Given the description of an element on the screen output the (x, y) to click on. 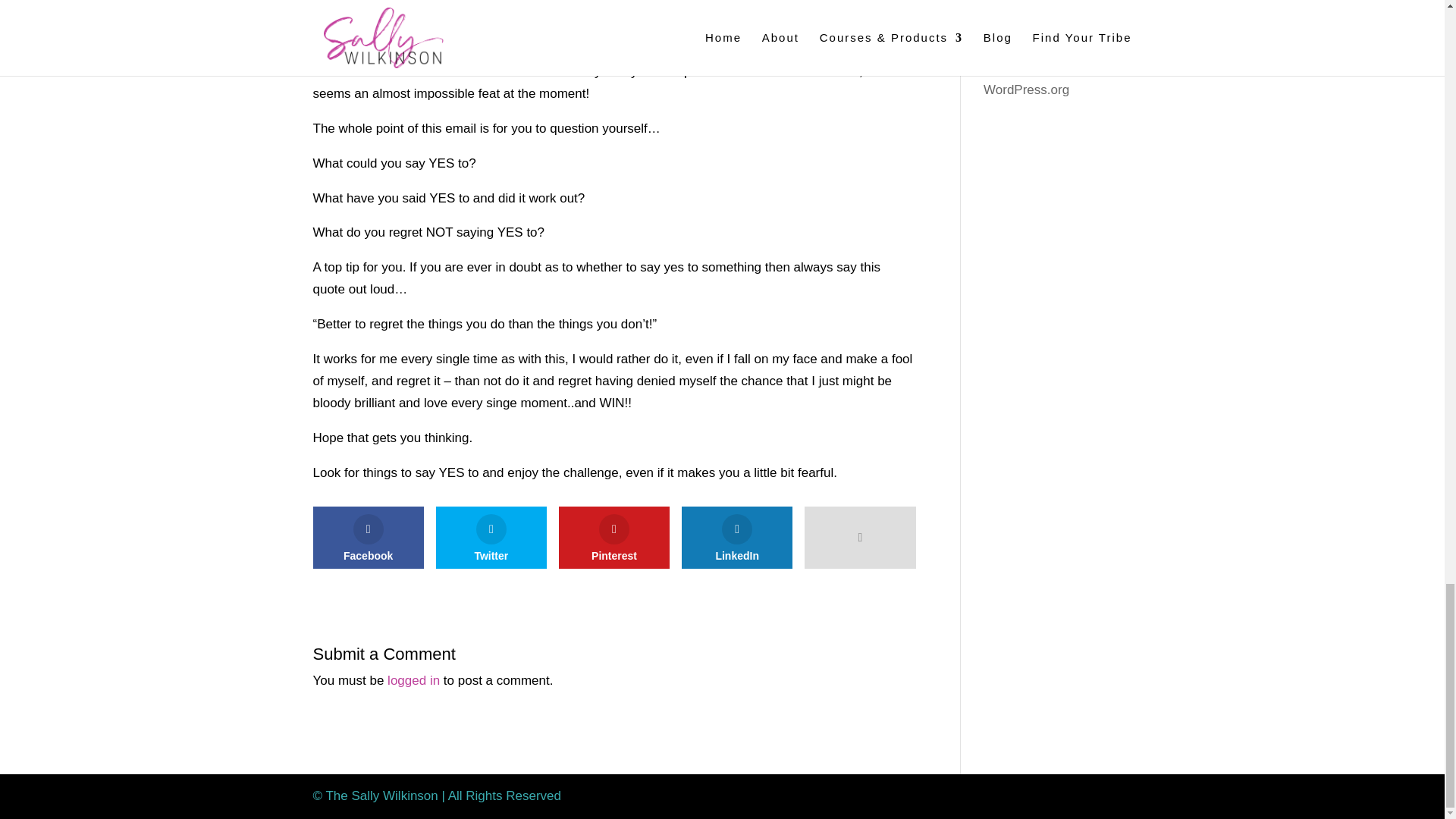
Twitter (491, 537)
Facebook (368, 537)
Pinterest (614, 537)
LinkedIn (736, 537)
logged in (413, 680)
